Given the description of an element on the screen output the (x, y) to click on. 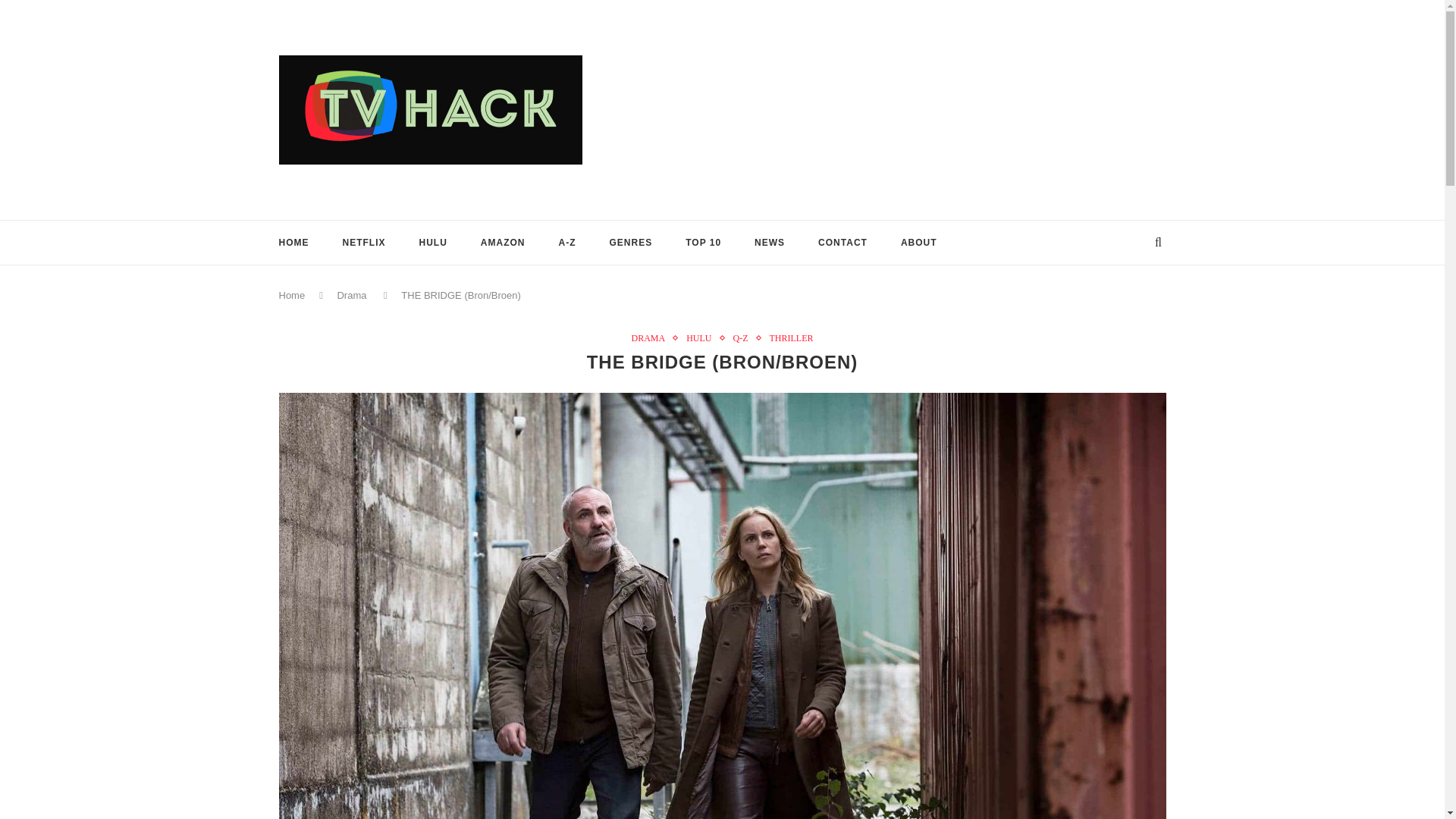
Home (292, 295)
CONTACT (842, 241)
AMAZON (502, 241)
View all posts in Hulu (702, 337)
NETFLIX (363, 241)
GENRES (631, 241)
THRILLER (790, 337)
Drama (351, 295)
View all posts in Thriller (790, 337)
Q-Z (743, 337)
HULU (702, 337)
View all posts in Q-Z (743, 337)
View all posts in Drama (651, 337)
DRAMA (651, 337)
